Given the description of an element on the screen output the (x, y) to click on. 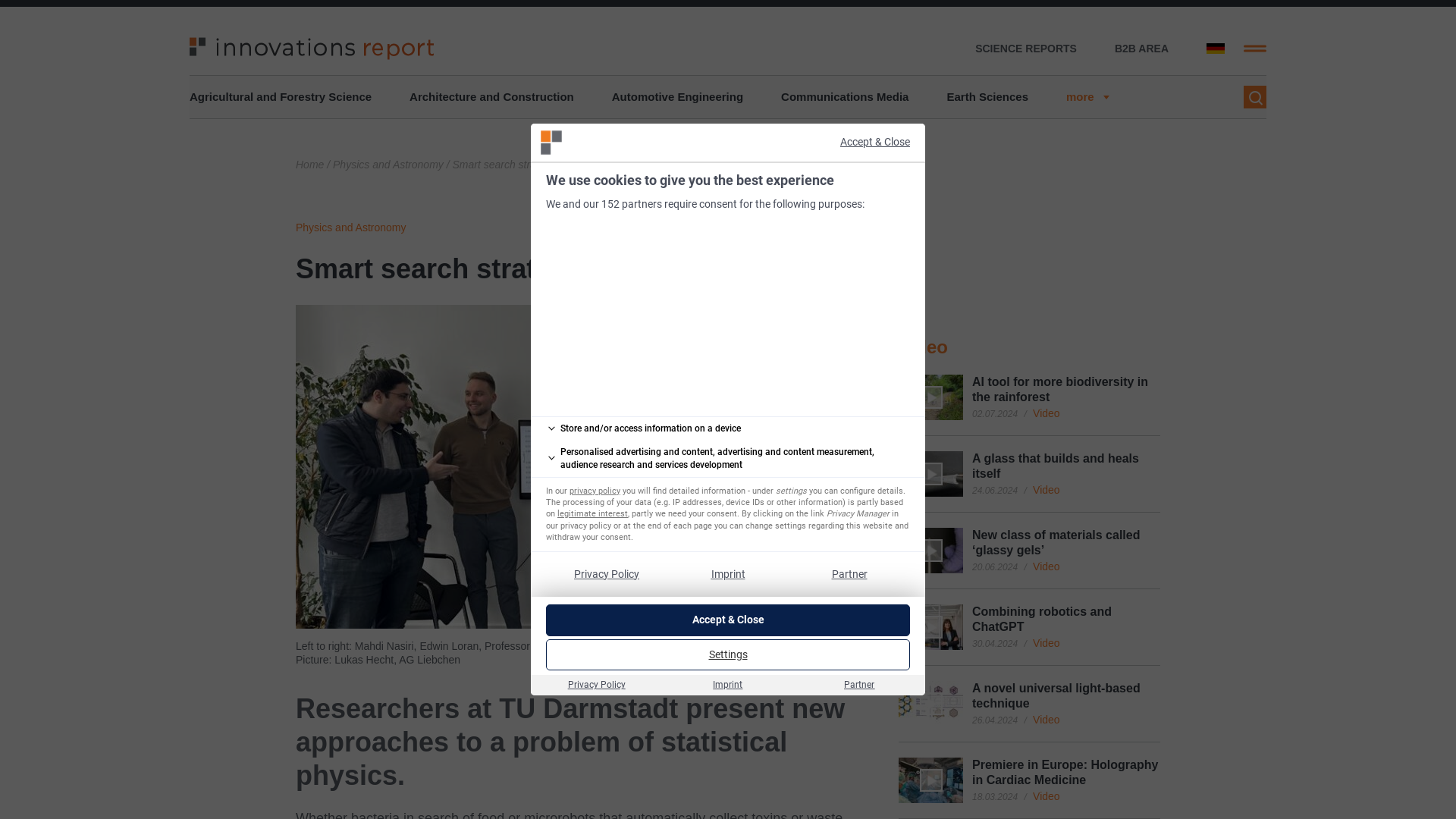
Earth Sciences (986, 96)
Agricultural and Forestry Science (280, 96)
B2B AREA (1142, 48)
Architecture and Construction (491, 96)
SCIENCE REPORTS (1026, 48)
Communications Media (844, 96)
Automotive Engineering (676, 96)
